Given the description of an element on the screen output the (x, y) to click on. 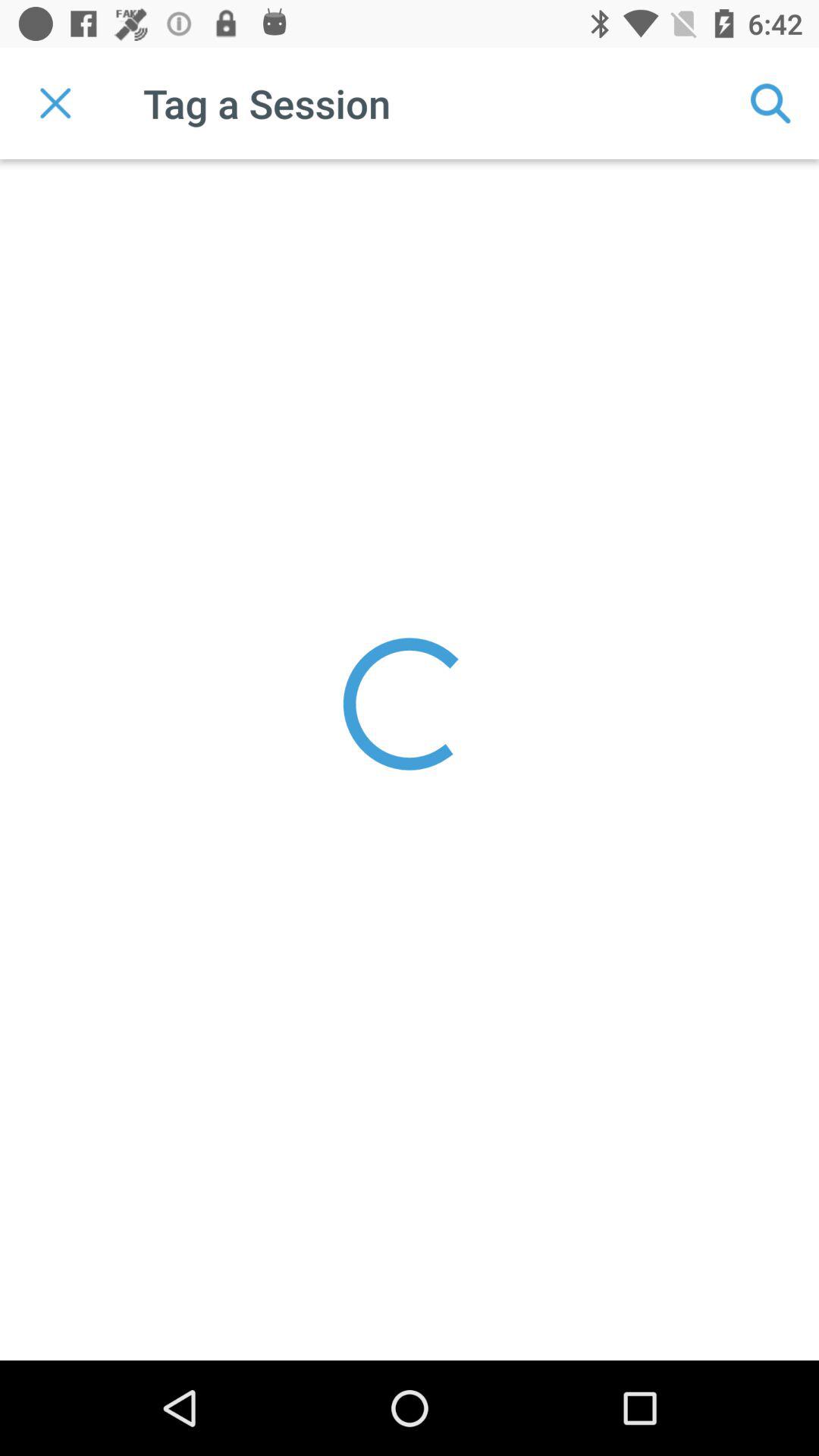
open icon to the left of tag a session (55, 103)
